Given the description of an element on the screen output the (x, y) to click on. 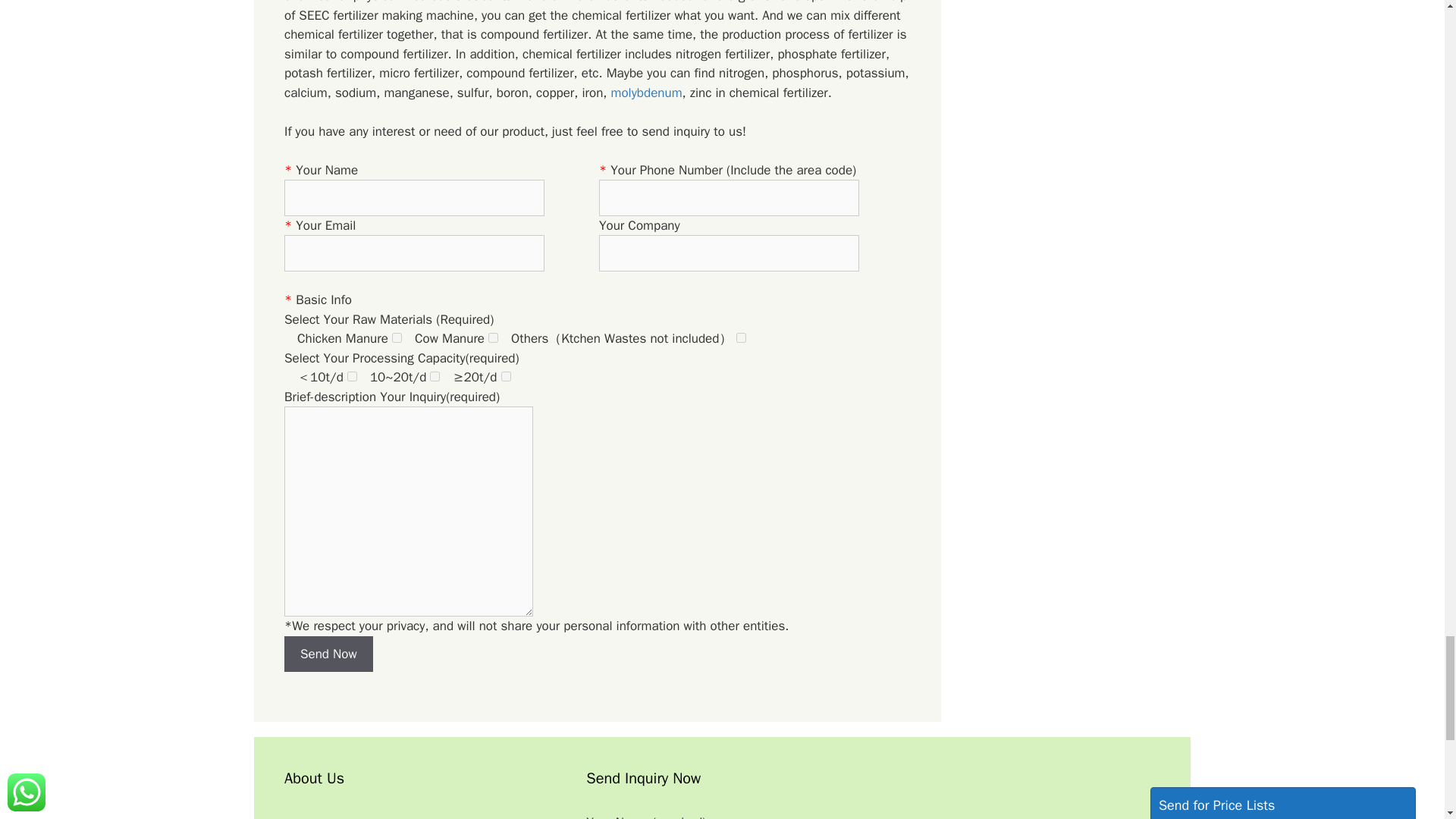
Cow Manure (492, 337)
Send Now (327, 654)
Chicken Manure (396, 337)
